Given the description of an element on the screen output the (x, y) to click on. 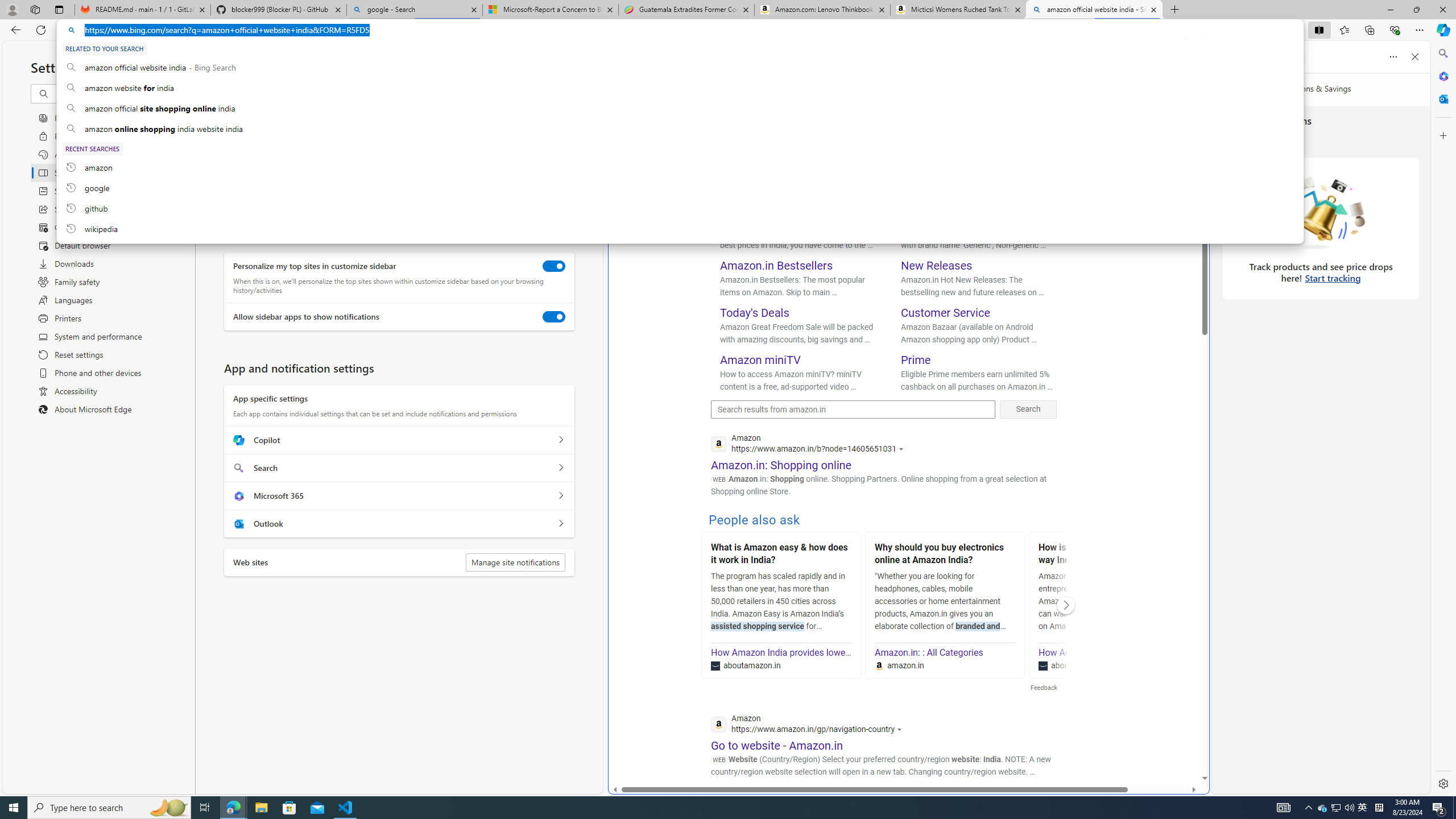
Eugene (1168, 67)
Dropdown Menu (1000, 96)
Actions for this site (900, 729)
NEWS (955, 96)
Always on Sidebar will always show (235, 104)
Why should you buy electronics online at Amazon India? (945, 555)
